Given the description of an element on the screen output the (x, y) to click on. 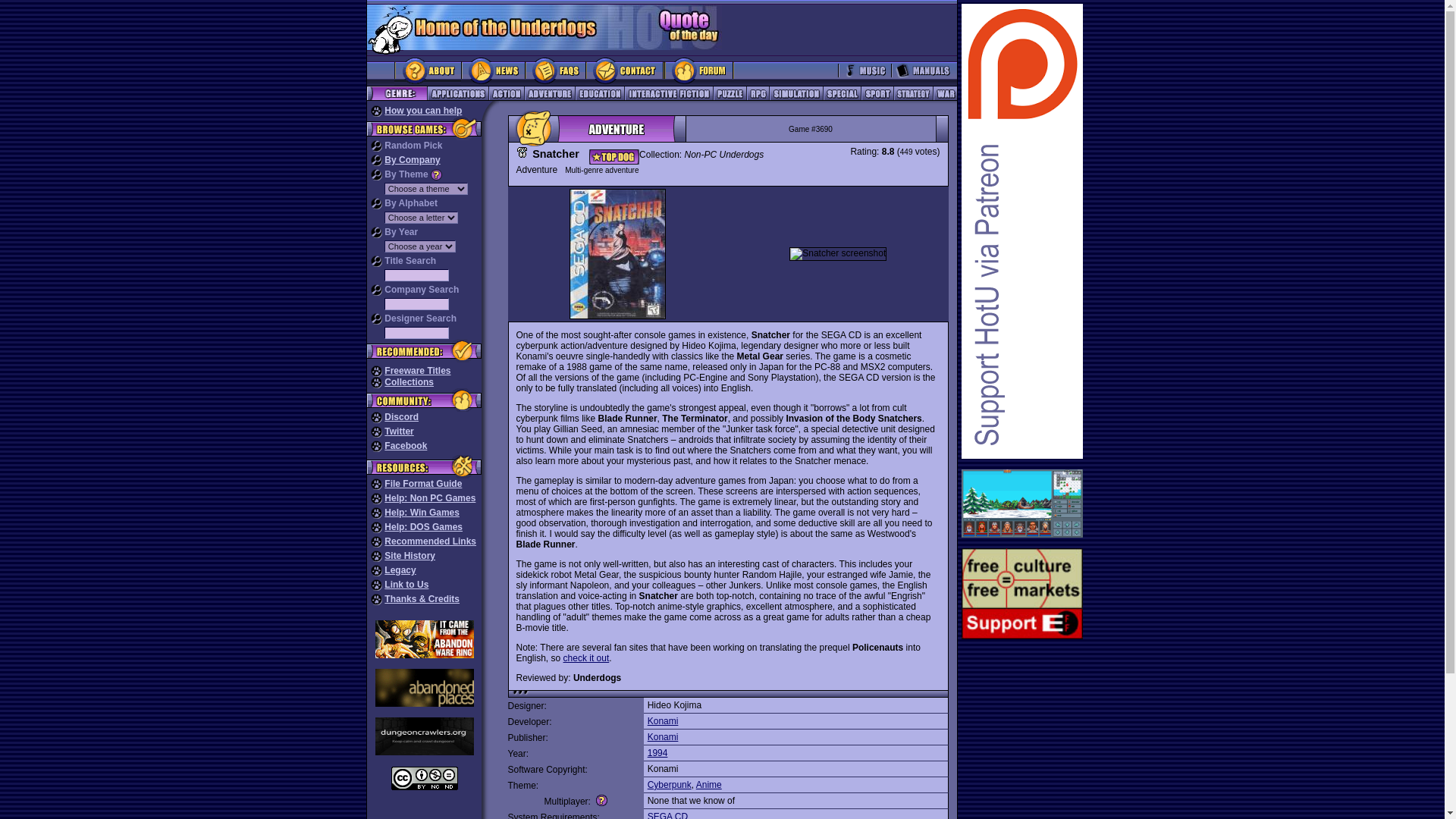
Recommended Links (430, 541)
Freeware Titles (416, 370)
File Format Guide (422, 483)
Facebook (405, 445)
Help: DOS Games (423, 526)
Link to Us (406, 584)
Help: Win Games (422, 511)
Random Pick (413, 145)
Site History (409, 555)
Legacy (399, 570)
